Given the description of an element on the screen output the (x, y) to click on. 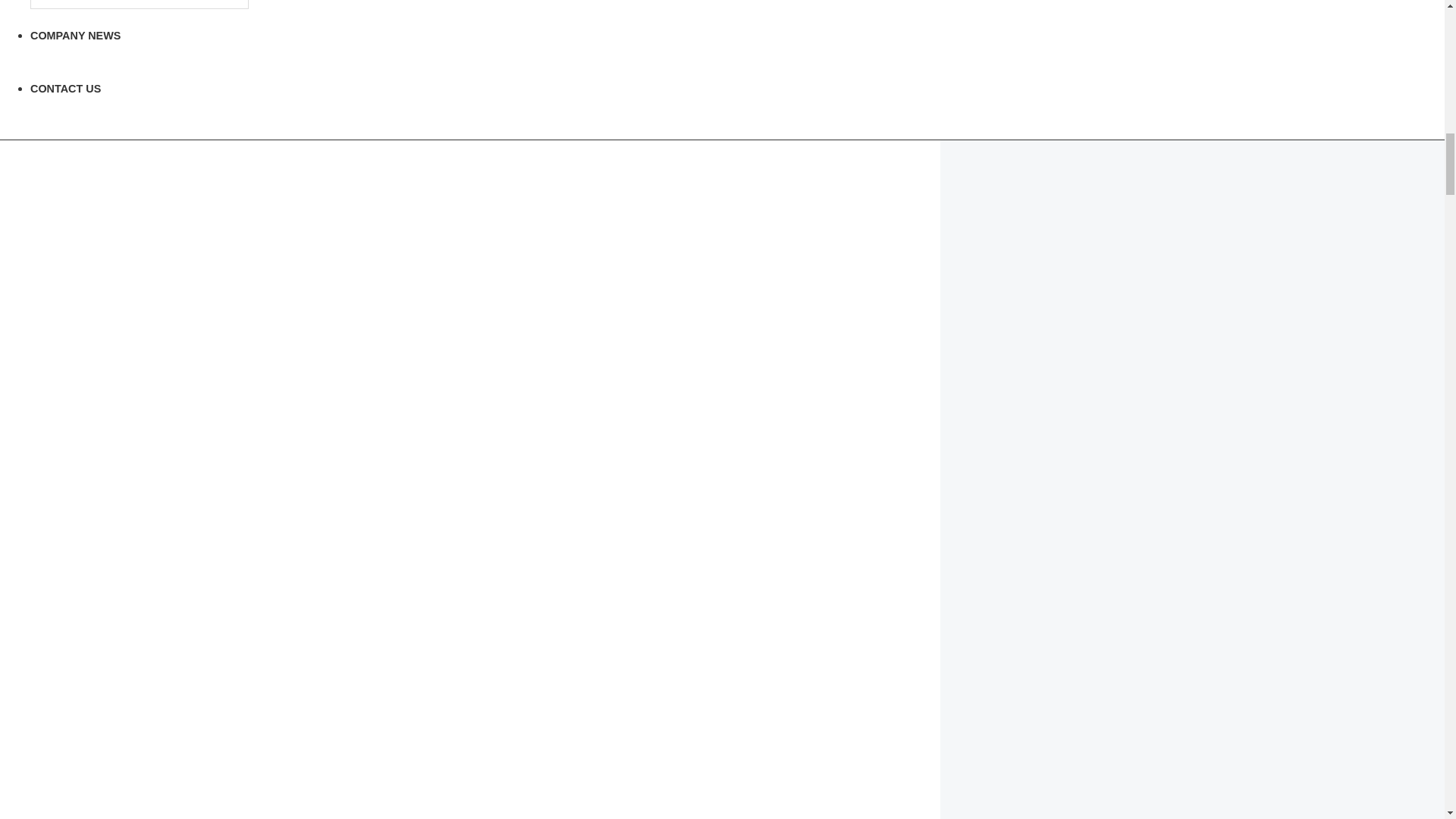
CONTACT US (65, 88)
COMPANY NEWS (75, 35)
